Given the description of an element on the screen output the (x, y) to click on. 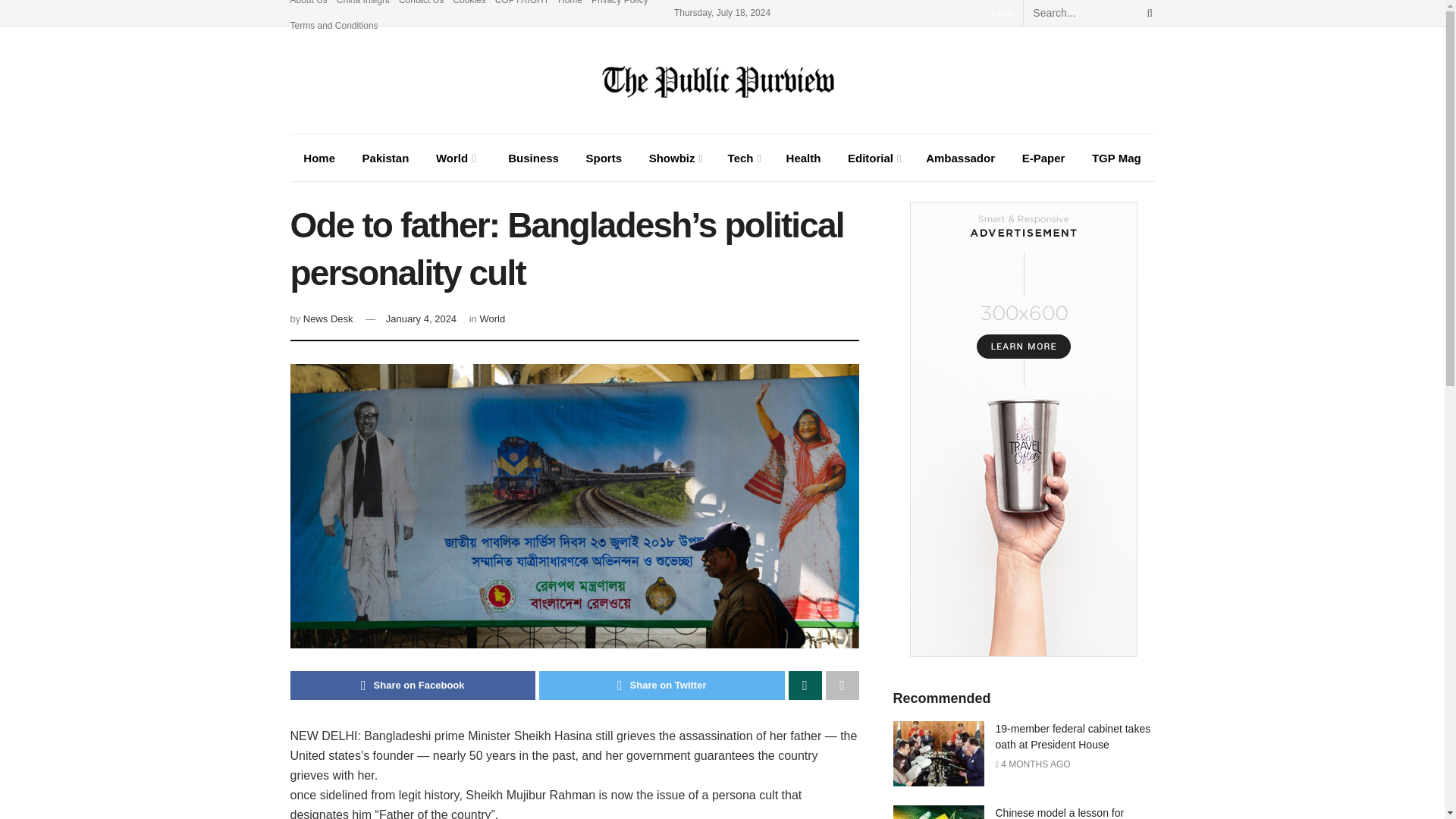
Privacy Policy (619, 6)
Sports (603, 157)
Home (318, 157)
Cookies (468, 6)
Business (529, 157)
Showbiz (674, 157)
COPYRIGHT (521, 6)
About Us (307, 6)
Contact Us (421, 6)
Tech (743, 157)
Login (998, 12)
China Insight (363, 6)
Terms and Conditions (333, 25)
World (454, 157)
Pakistan (385, 157)
